Given the description of an element on the screen output the (x, y) to click on. 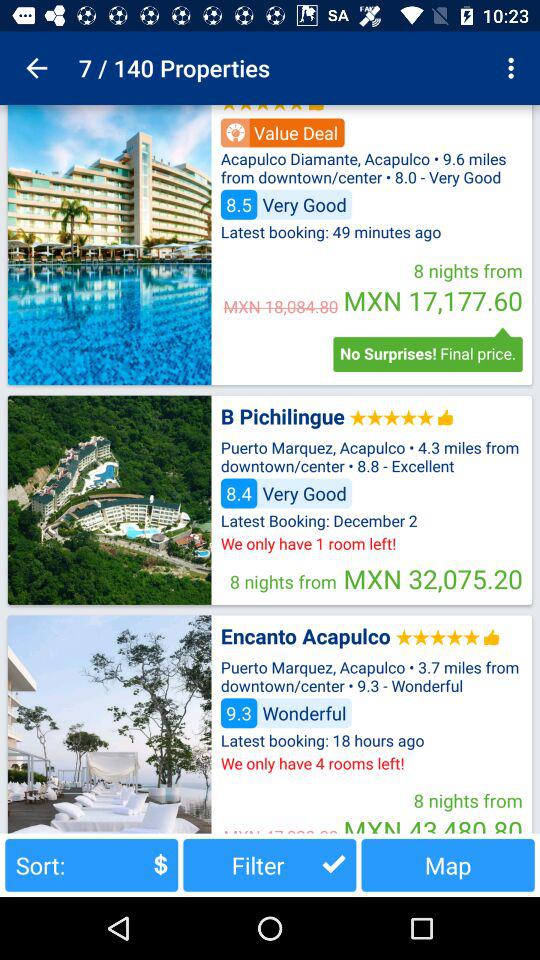
view profile picture (109, 499)
